Given the description of an element on the screen output the (x, y) to click on. 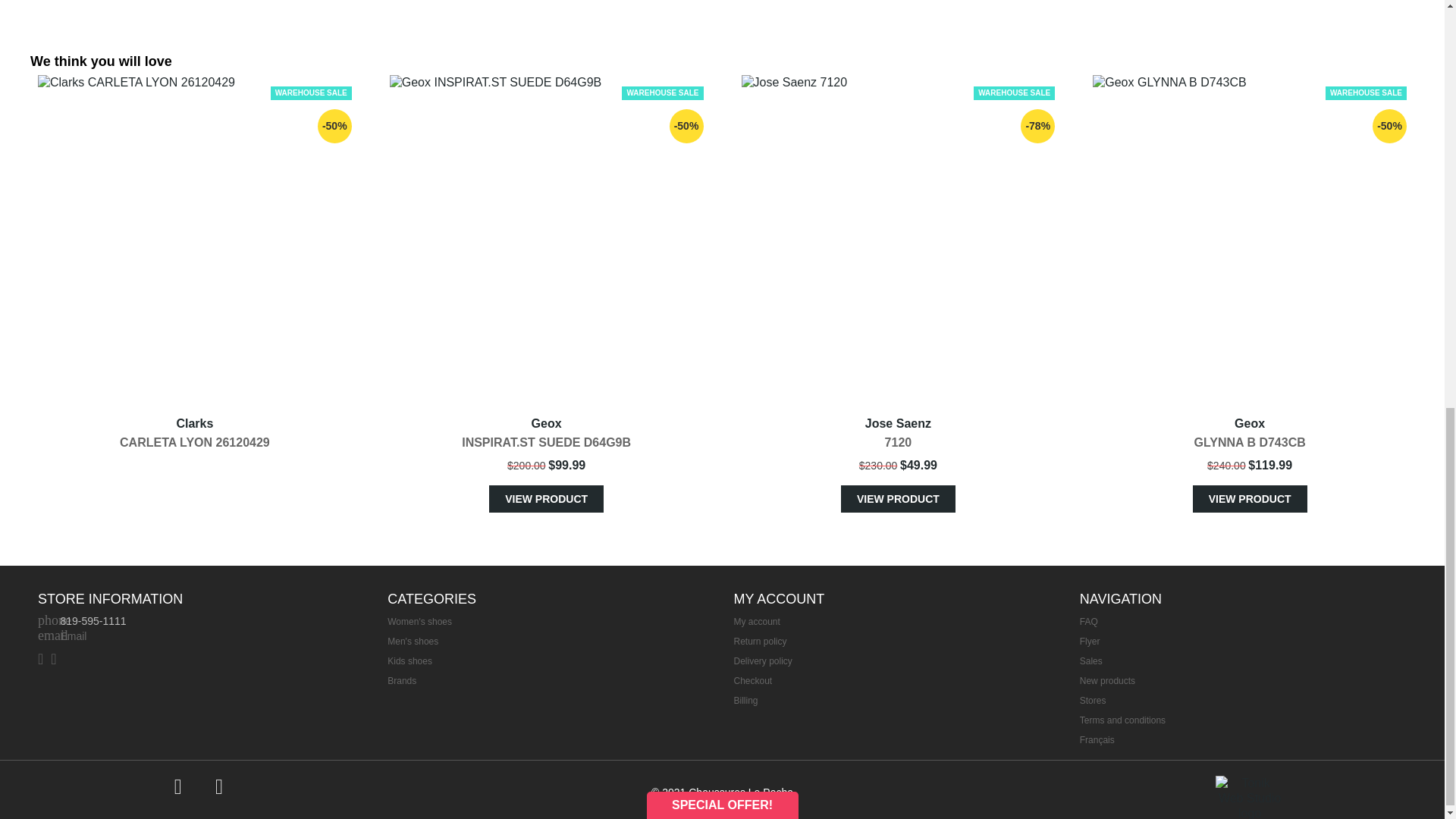
Geox INSPIRAT.ST SUEDE D64G9B (546, 240)
Clarks UN ADORN WALK 26145172 (445, 12)
Clarks CARLETA LYON 26120429 (194, 240)
Jose Saenz 7120 (898, 240)
Geox GLYNNA B D743CB (1249, 240)
